Given the description of an element on the screen output the (x, y) to click on. 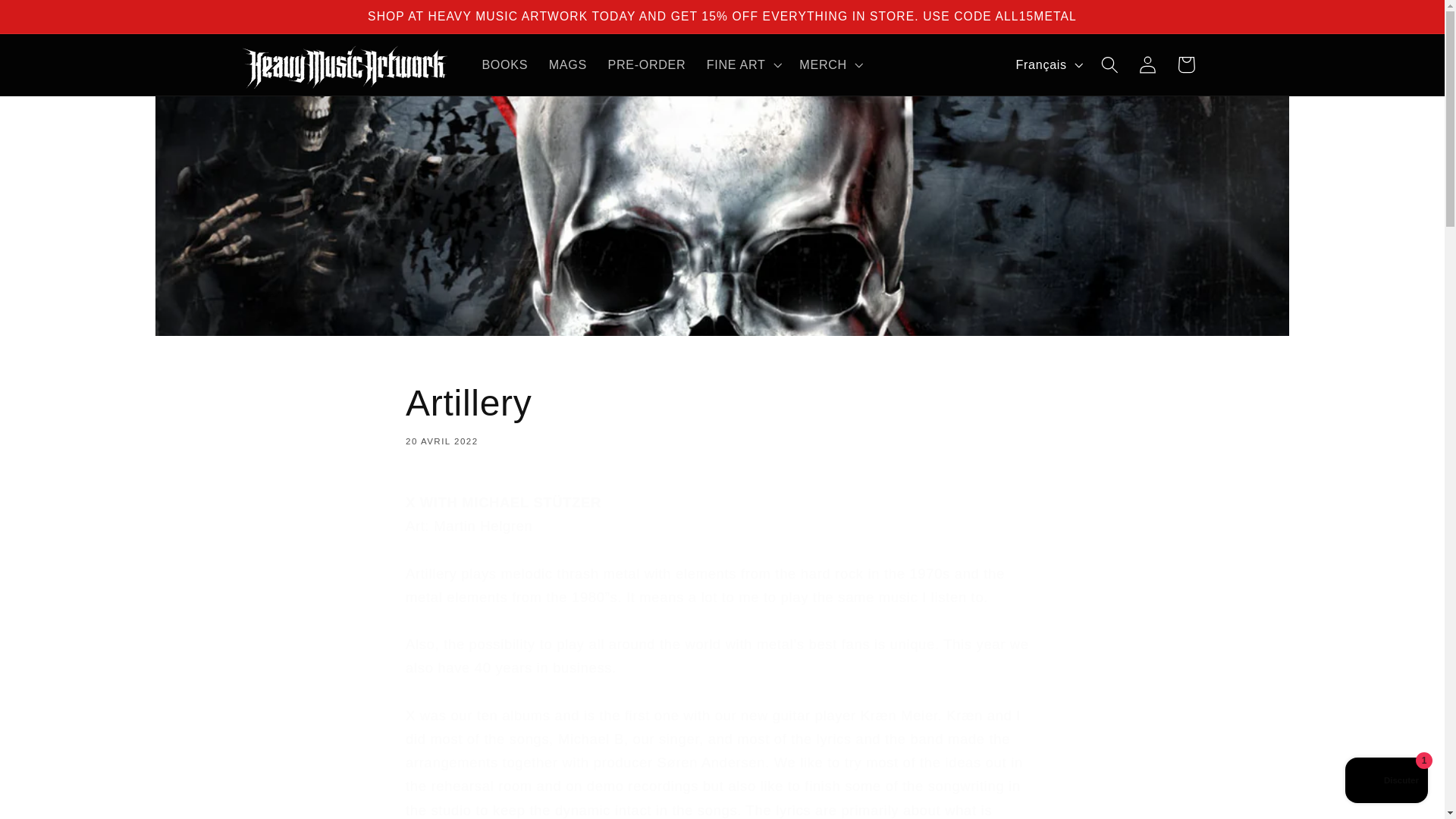
Connexion (1147, 64)
MAGS (567, 63)
PRE-ORDER (645, 63)
Panier (722, 413)
BOOKS (1186, 64)
Chat de la boutique en ligne Shopify (504, 63)
Ignorer et passer au contenu (1386, 781)
